Given the description of an element on the screen output the (x, y) to click on. 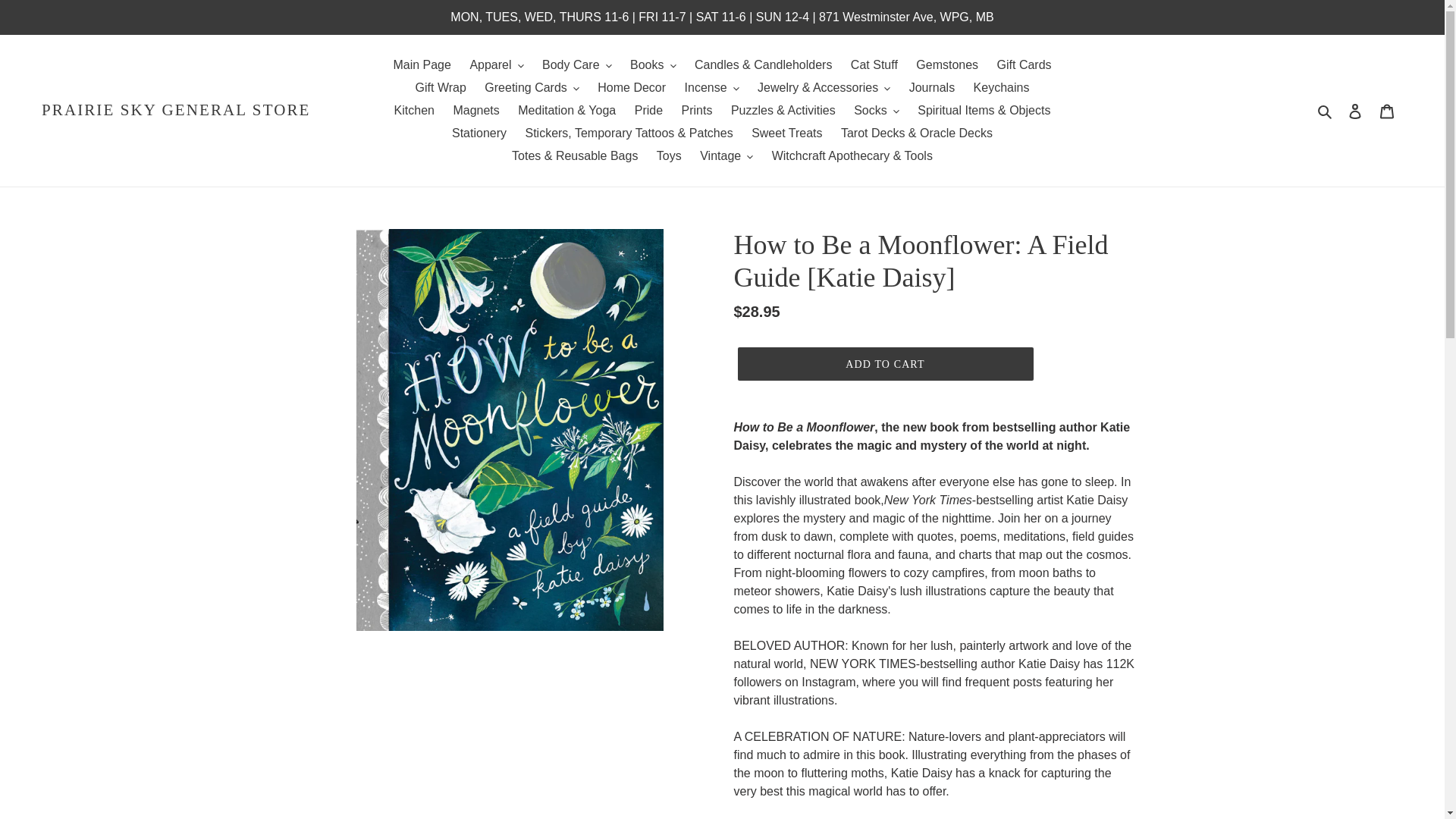
PRAIRIE SKY GENERAL STORE (176, 109)
Books (652, 65)
Body Care (577, 65)
Main Page (421, 65)
Apparel (496, 65)
